Given the description of an element on the screen output the (x, y) to click on. 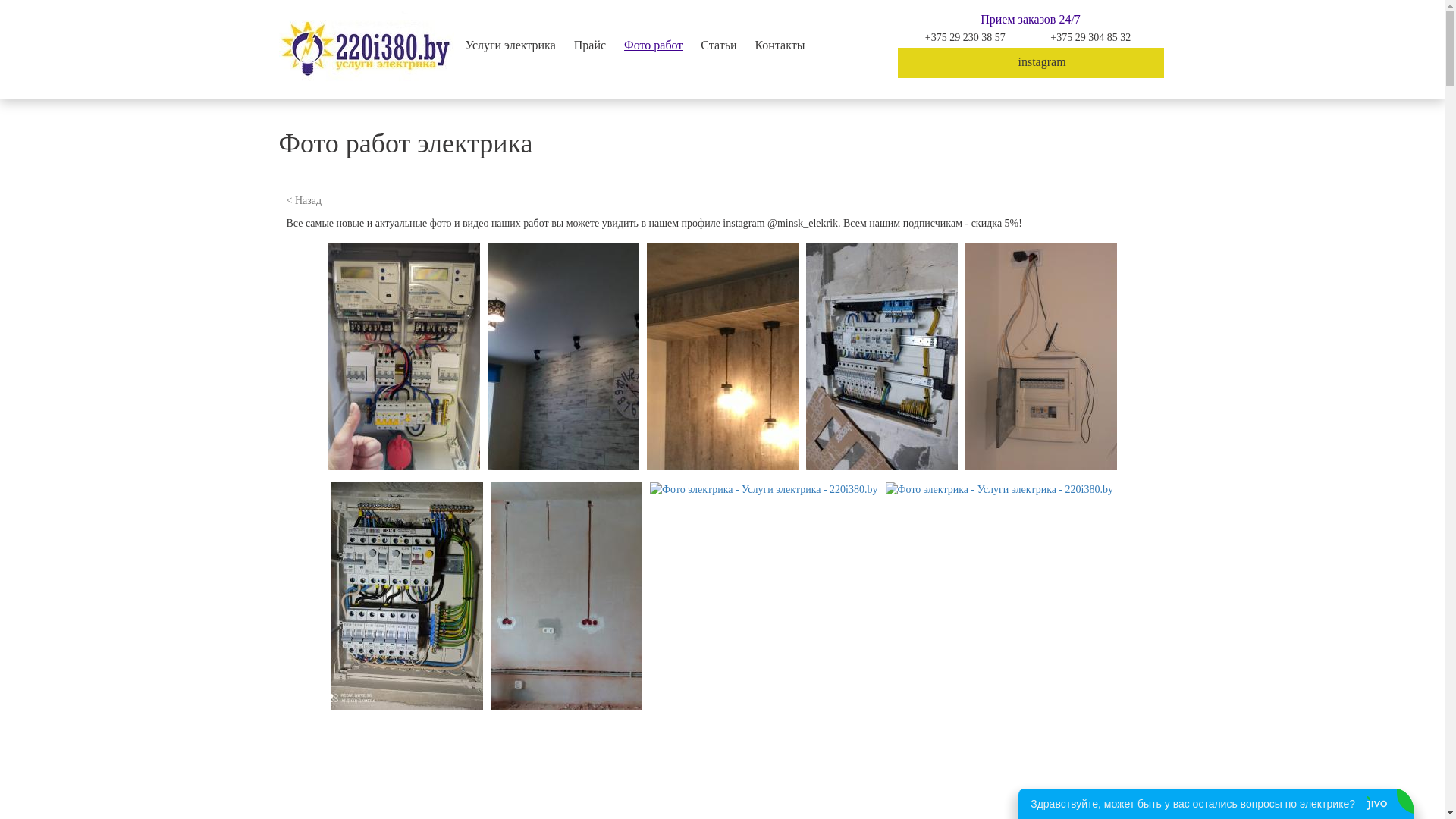
+375 29 230 38 57 Element type: text (965, 37)
+375 29 304 85 32 Element type: text (1090, 37)
instagram Element type: text (1030, 62)
